Given the description of an element on the screen output the (x, y) to click on. 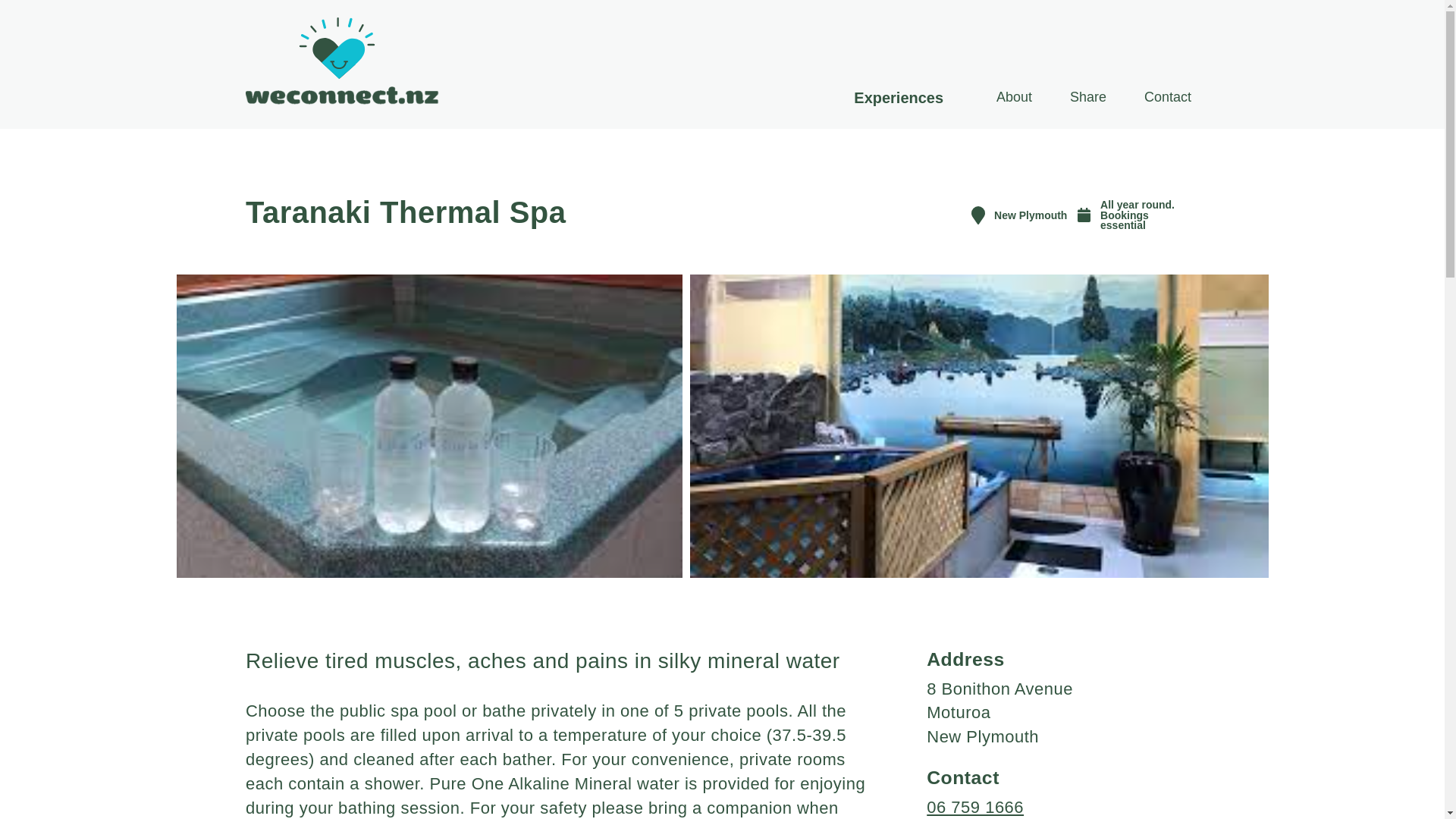
Contact (1167, 97)
Share (1087, 97)
Experiences (897, 97)
About (1013, 97)
06 759 1666 (974, 806)
